Given the description of an element on the screen output the (x, y) to click on. 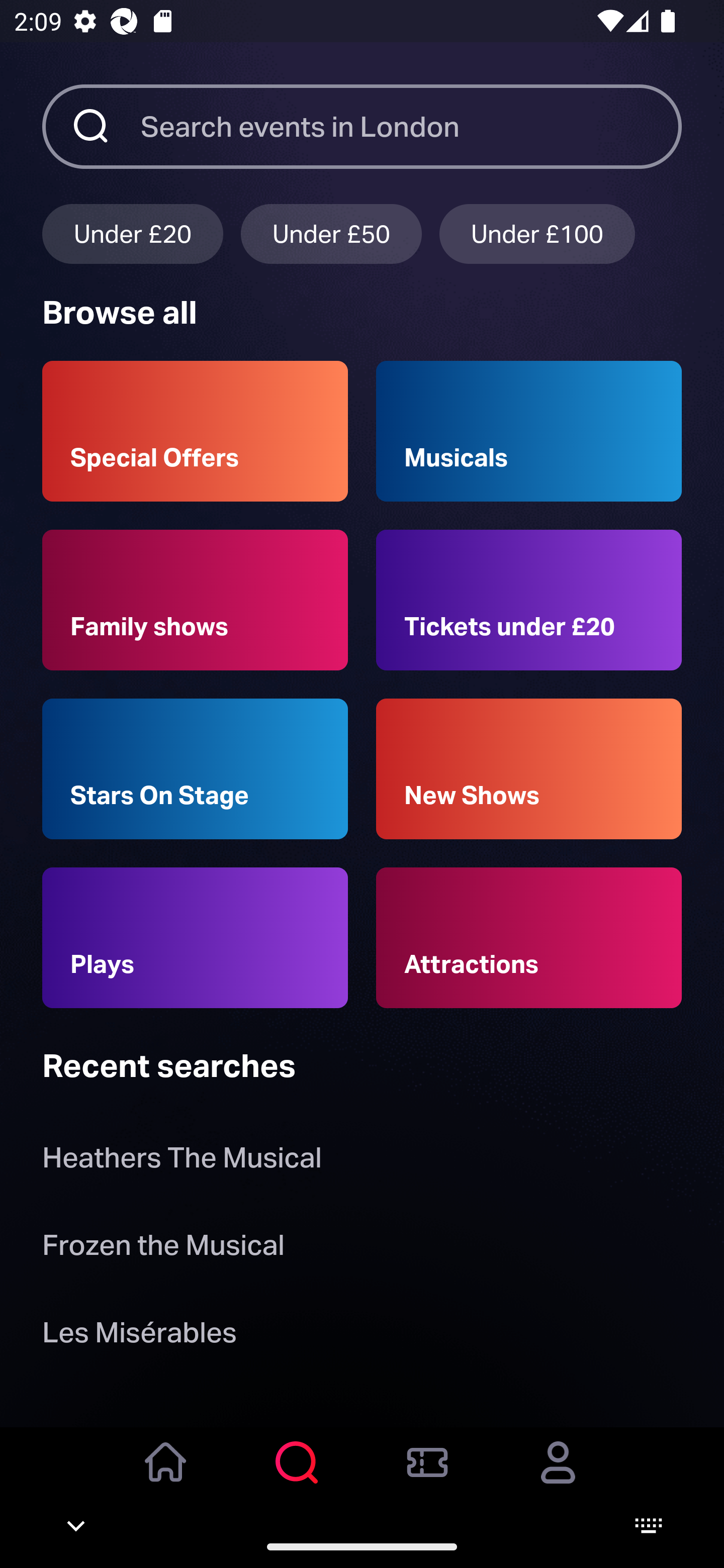
Search events in London (411, 126)
Under £20 (131, 233)
Under £50 (331, 233)
Under £100 (536, 233)
Special Offers (194, 430)
Musicals (528, 430)
Family shows (194, 600)
Tickets under £20  (528, 600)
Stars On Stage (194, 768)
New Shows (528, 768)
Plays (194, 937)
Attractions  (528, 937)
Heathers The Musical (181, 1161)
Frozen the Musical (162, 1248)
Les Misérables (138, 1335)
Home (165, 1475)
Orders (427, 1475)
Account (558, 1475)
